Given the description of an element on the screen output the (x, y) to click on. 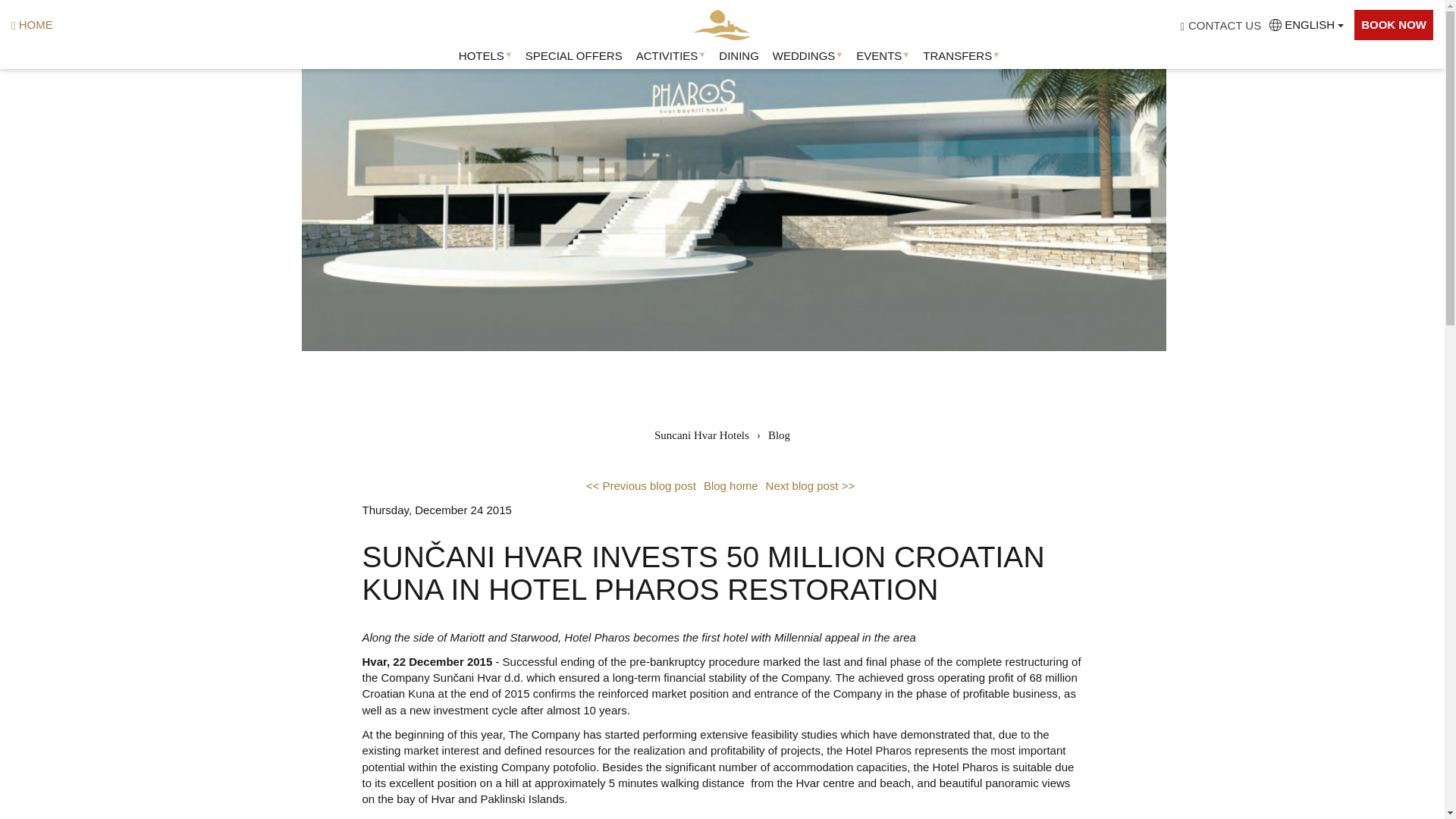
Blog (779, 435)
SPECIAL OFFERS (574, 55)
WEDDINGS (804, 55)
CONTACT US (1224, 24)
Suncani Hvar Hotels (721, 24)
Suncani Hvar Hotels (722, 24)
DINING (738, 55)
ENGLISH (1309, 24)
HOTELS (480, 55)
